Given the description of an element on the screen output the (x, y) to click on. 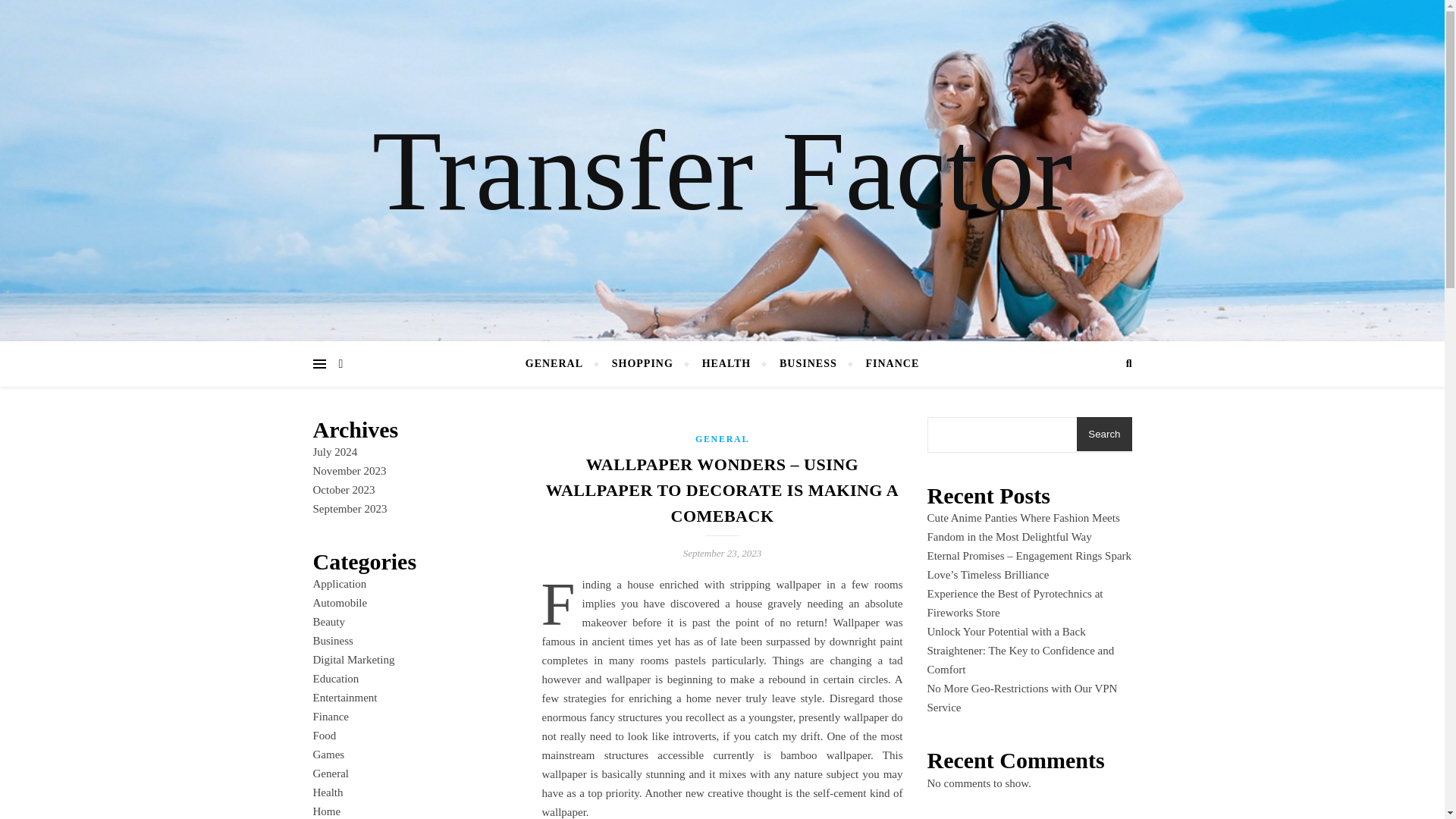
SHOPPING (641, 363)
Application (339, 583)
BUSINESS (808, 363)
October 2023 (343, 490)
Beauty (329, 621)
Health (327, 792)
September 2023 (350, 508)
FINANCE (884, 363)
Education (335, 678)
General (330, 773)
